Given the description of an element on the screen output the (x, y) to click on. 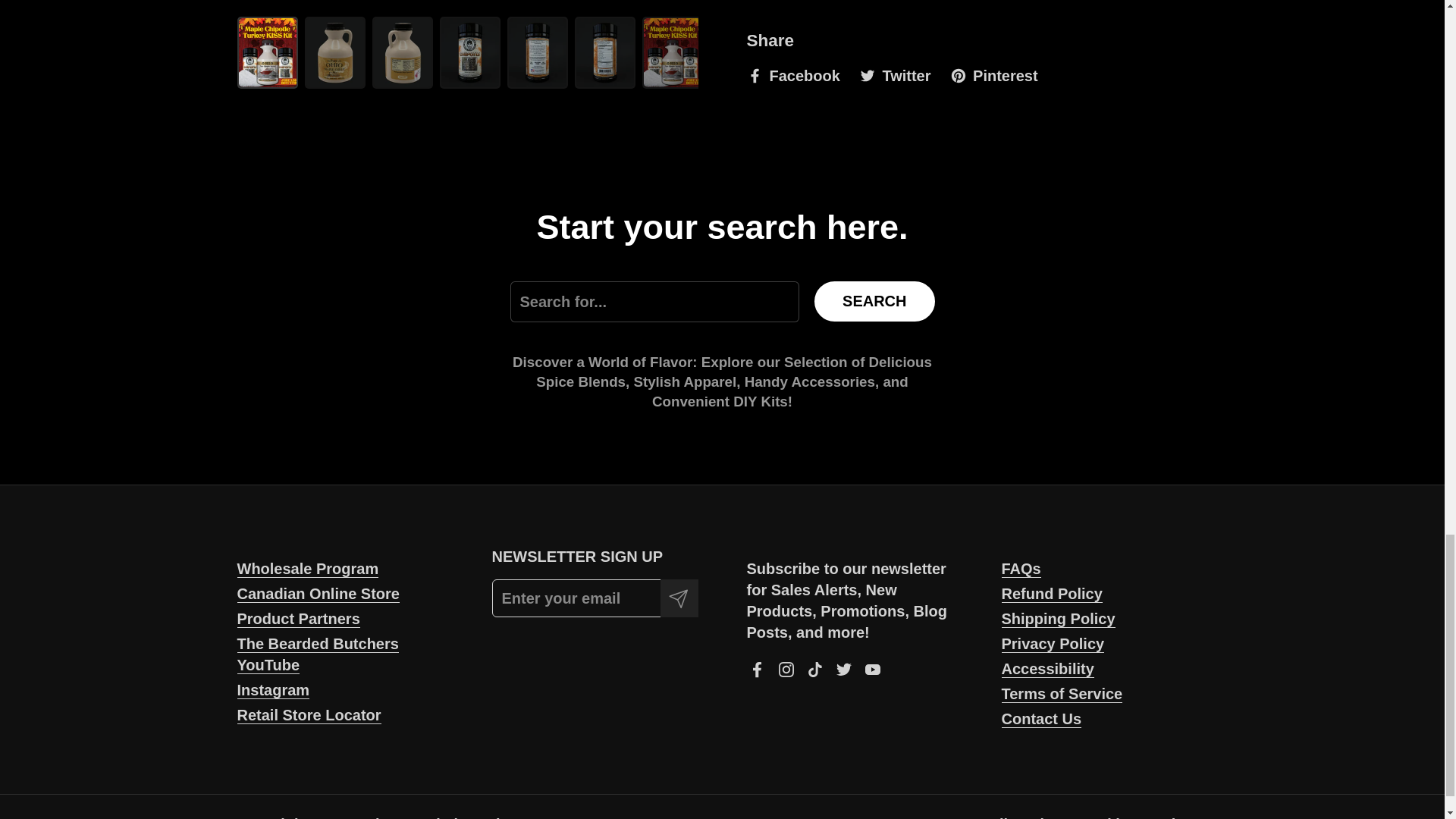
Share on twitter (894, 75)
Share on facebook (792, 75)
Share on pinterest (994, 75)
